Given the description of an element on the screen output the (x, y) to click on. 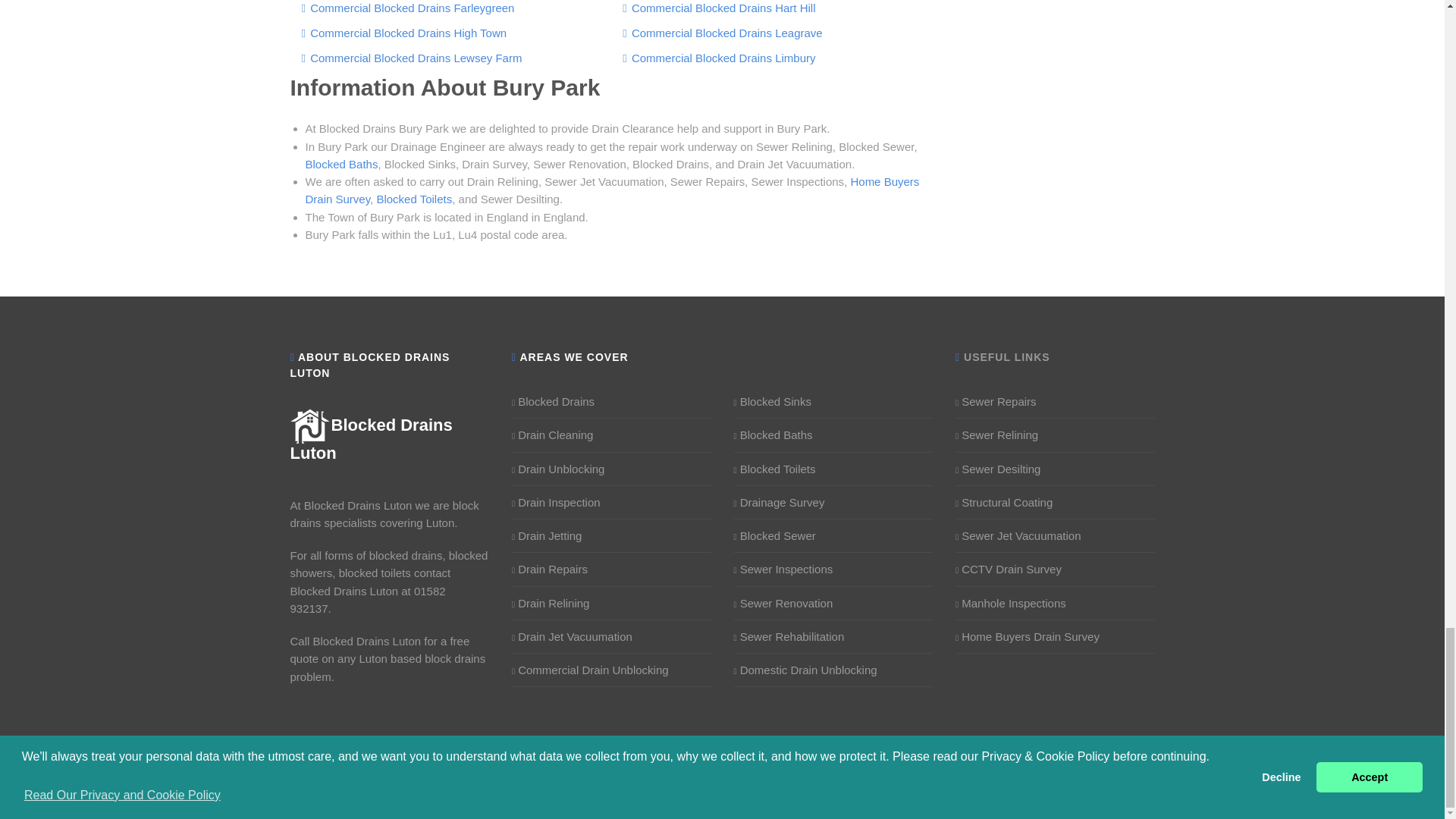
blockeddrains-luton.uk (370, 438)
